Given the description of an element on the screen output the (x, y) to click on. 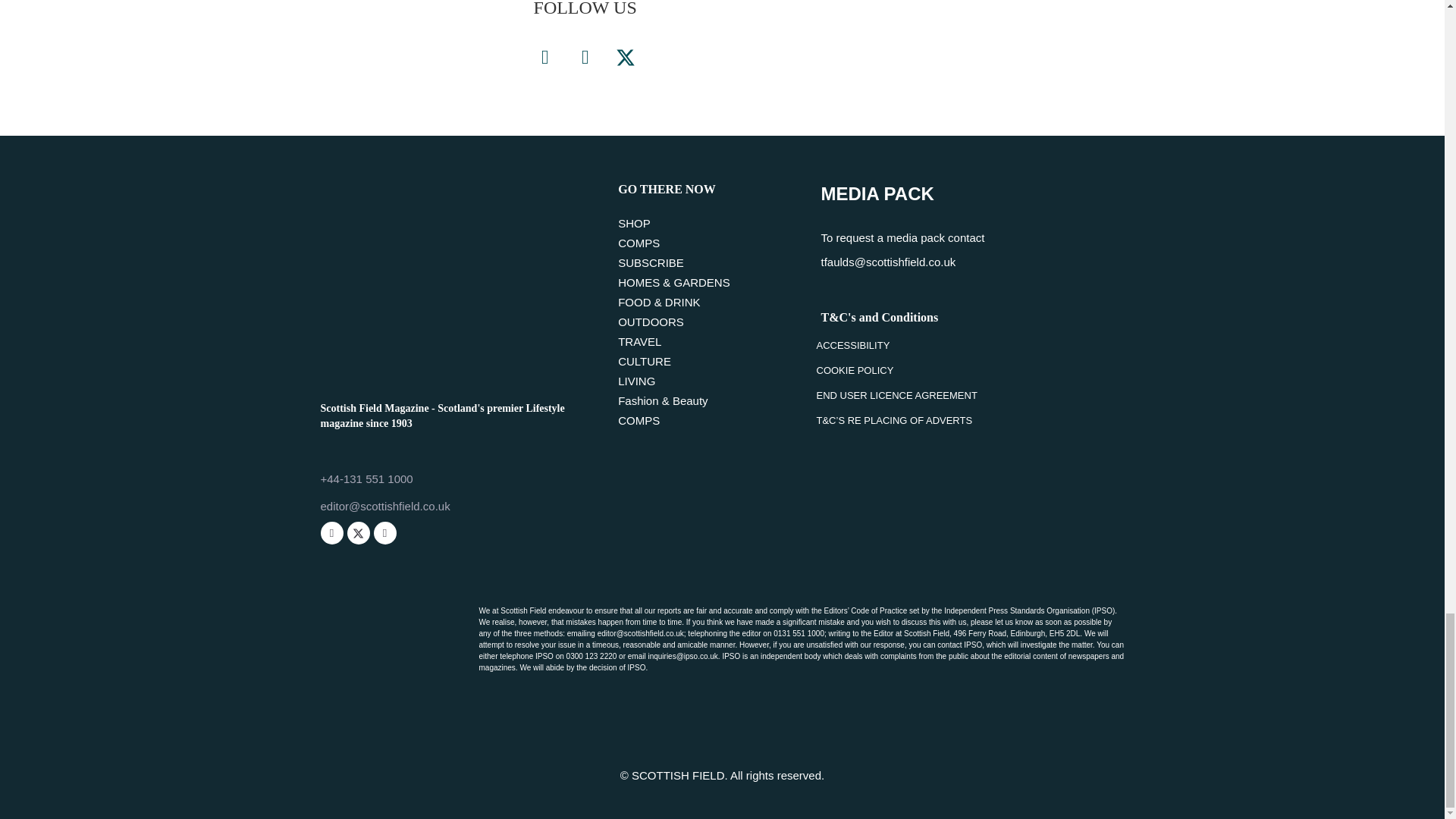
Facebook (544, 57)
Instagram (584, 57)
Facebook (331, 532)
